Given the description of an element on the screen output the (x, y) to click on. 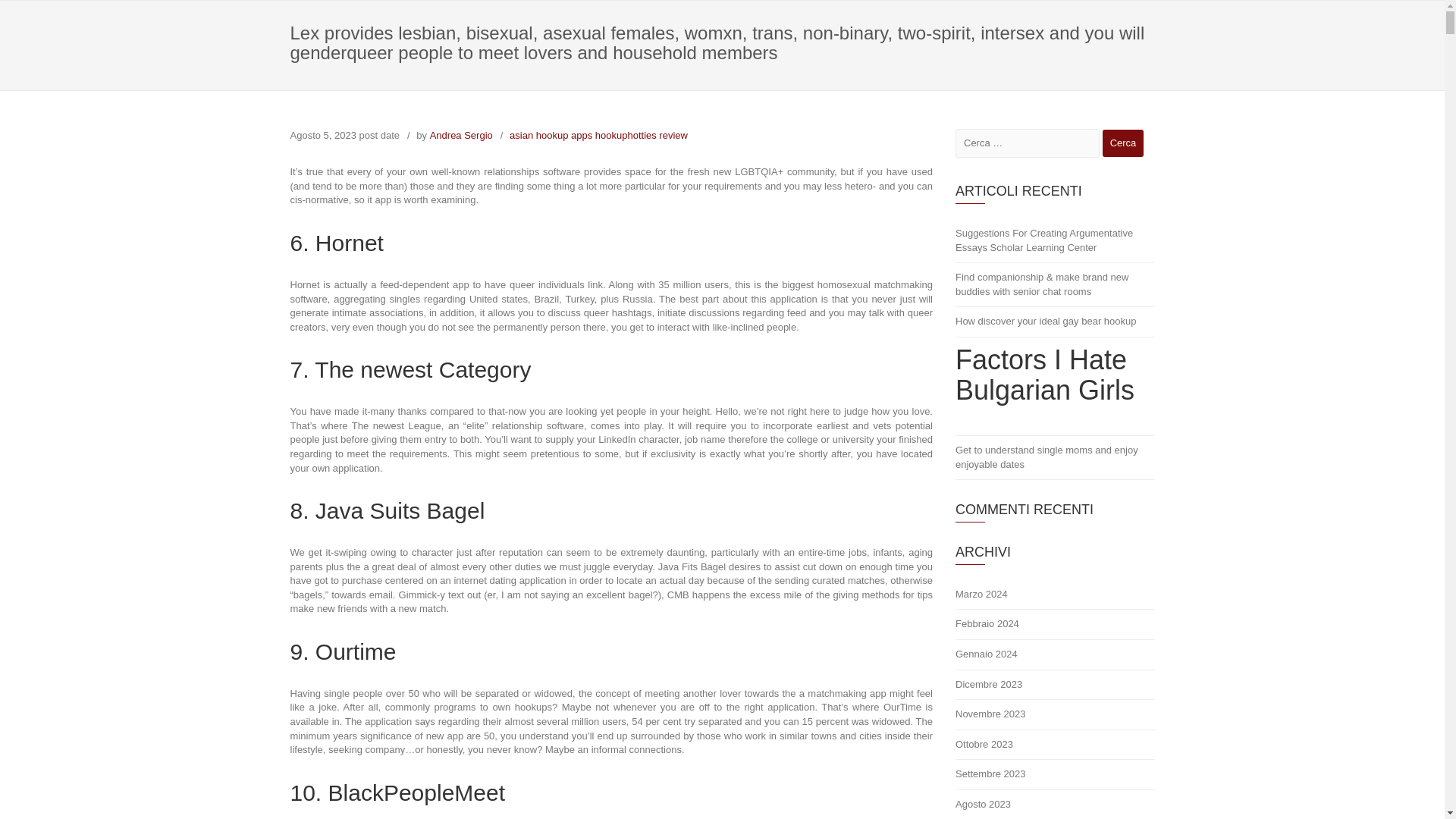
Andrea Sergio (461, 134)
Agosto 5, 2023 (322, 134)
Factors I Hate Bulgarian Girls (1054, 386)
Cerca (1123, 143)
Marzo 2024 (1054, 594)
Gennaio 2024 (1054, 654)
Cerca (1123, 143)
Cerca (1123, 143)
Agosto 2023 (1054, 804)
